Given the description of an element on the screen output the (x, y) to click on. 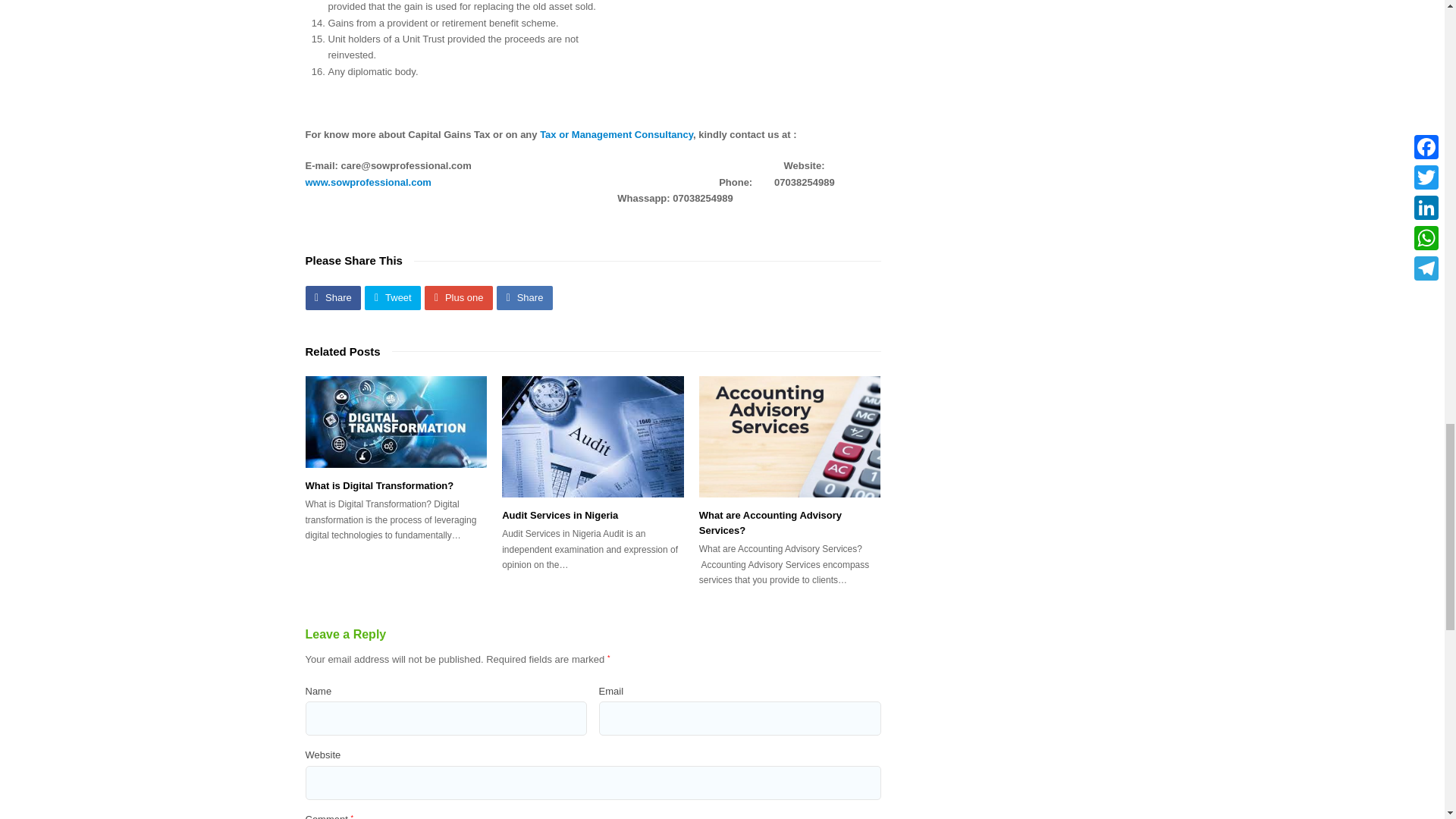
What is Digital Transformation? (378, 485)
What is Digital Transformation? (378, 485)
What are Accounting Advisory Services? (769, 522)
Share (332, 297)
Share (524, 297)
What is Digital Transformation? (395, 420)
Tweet (392, 297)
What are Accounting Advisory Services? (769, 522)
Share on Facebook (332, 297)
Audit Services in Nigeria (593, 435)
